Given the description of an element on the screen output the (x, y) to click on. 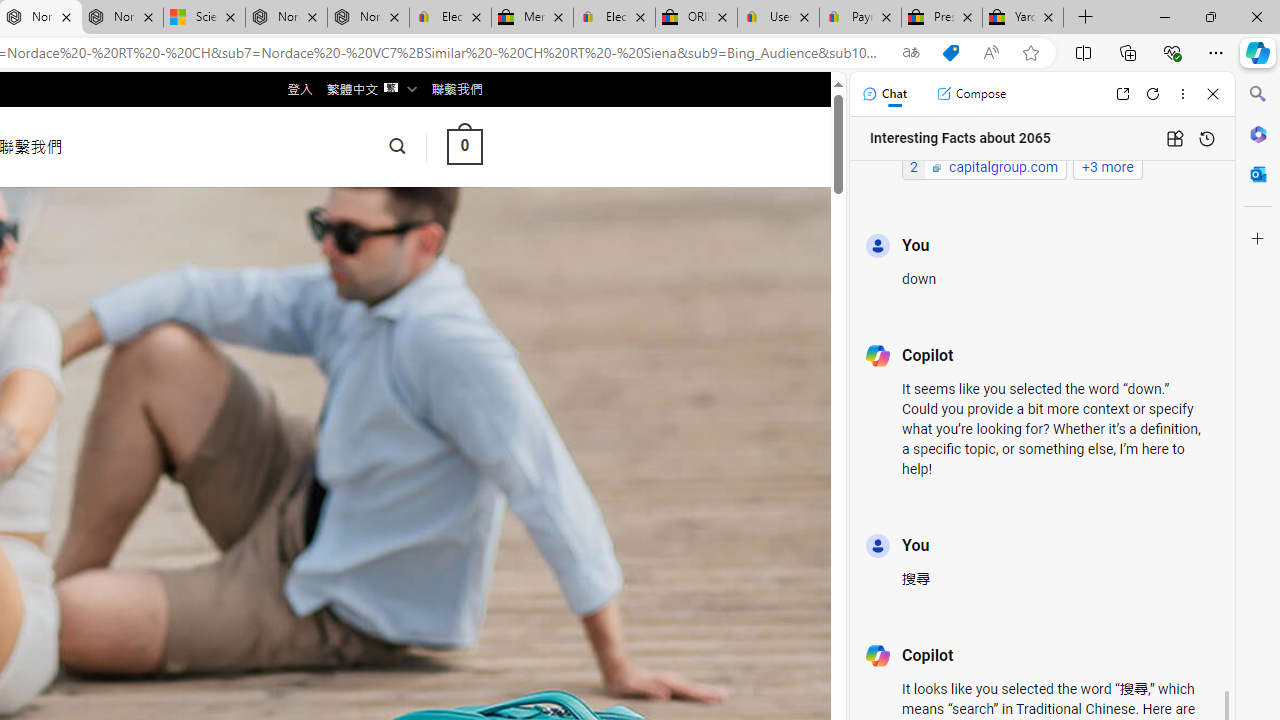
Compose (971, 93)
Show translate options (910, 53)
Electronics, Cars, Fashion, Collectibles & More | eBay (614, 17)
 0  (464, 146)
This site has coupons! Shopping in Microsoft Edge (950, 53)
Chat (884, 93)
